Given the description of an element on the screen output the (x, y) to click on. 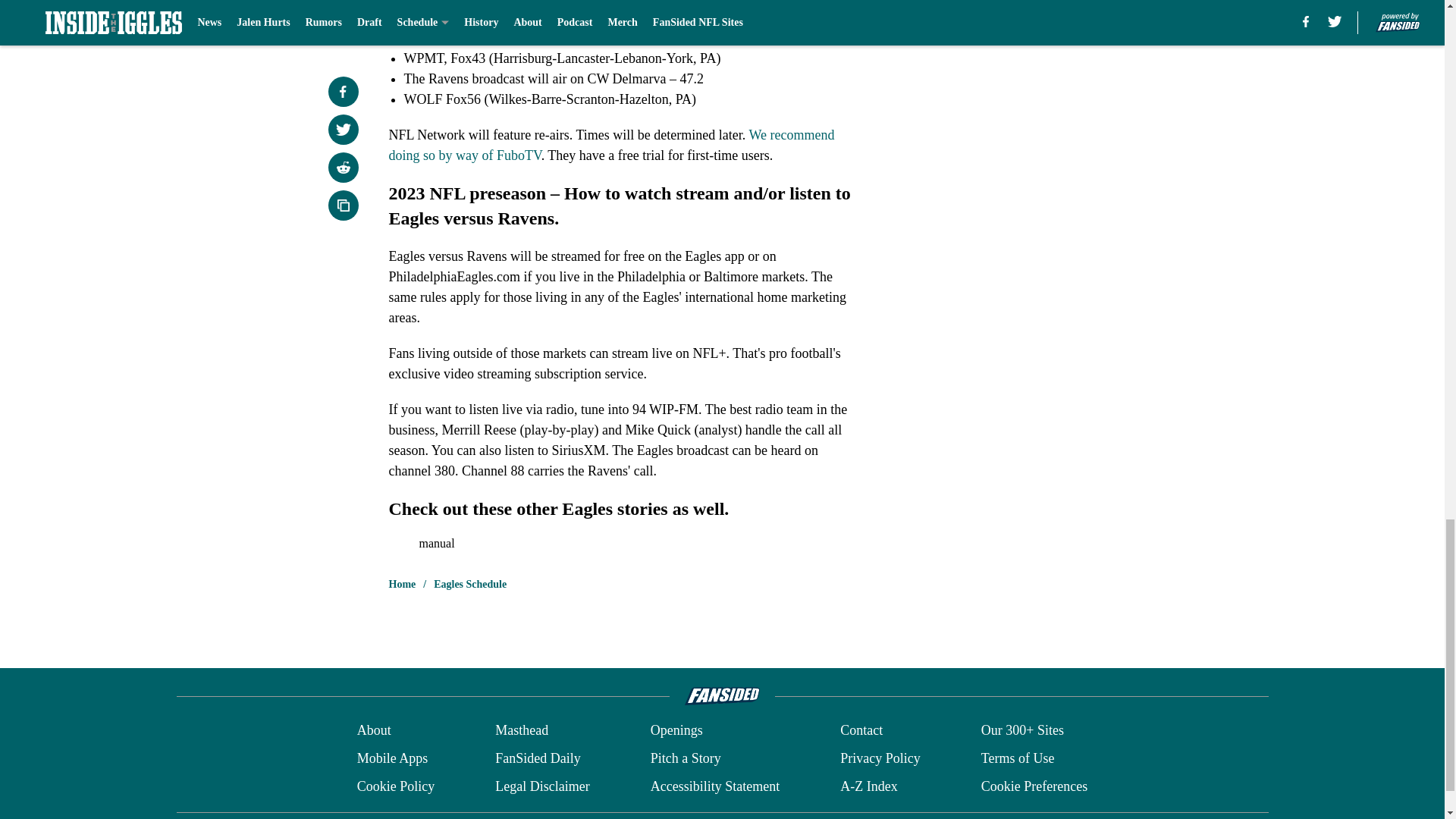
We recommend doing so by way of FuboTV (611, 144)
Home (401, 584)
Masthead (521, 730)
About (373, 730)
Pitch a Story (685, 758)
Cookie Preferences (1034, 786)
Eagles Schedule (469, 584)
Mobile Apps (392, 758)
Legal Disclaimer (542, 786)
Accessibility Statement (714, 786)
Privacy Policy (880, 758)
Cookie Policy (395, 786)
FanSided Daily (537, 758)
A-Z Index (868, 786)
Contact (861, 730)
